Given the description of an element on the screen output the (x, y) to click on. 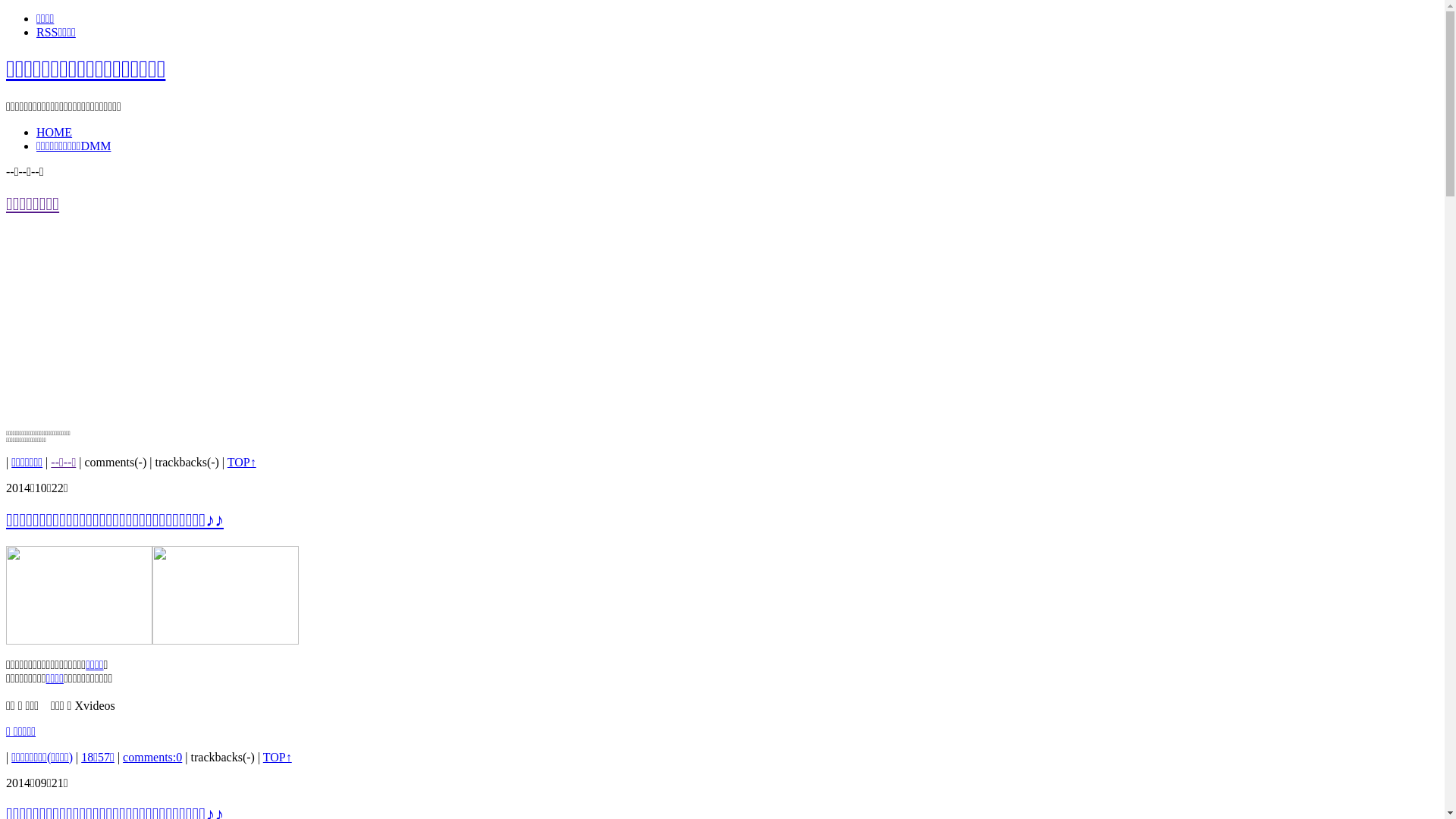
comments:0 Element type: text (152, 756)
HOME Element type: text (54, 131)
